Given the description of an element on the screen output the (x, y) to click on. 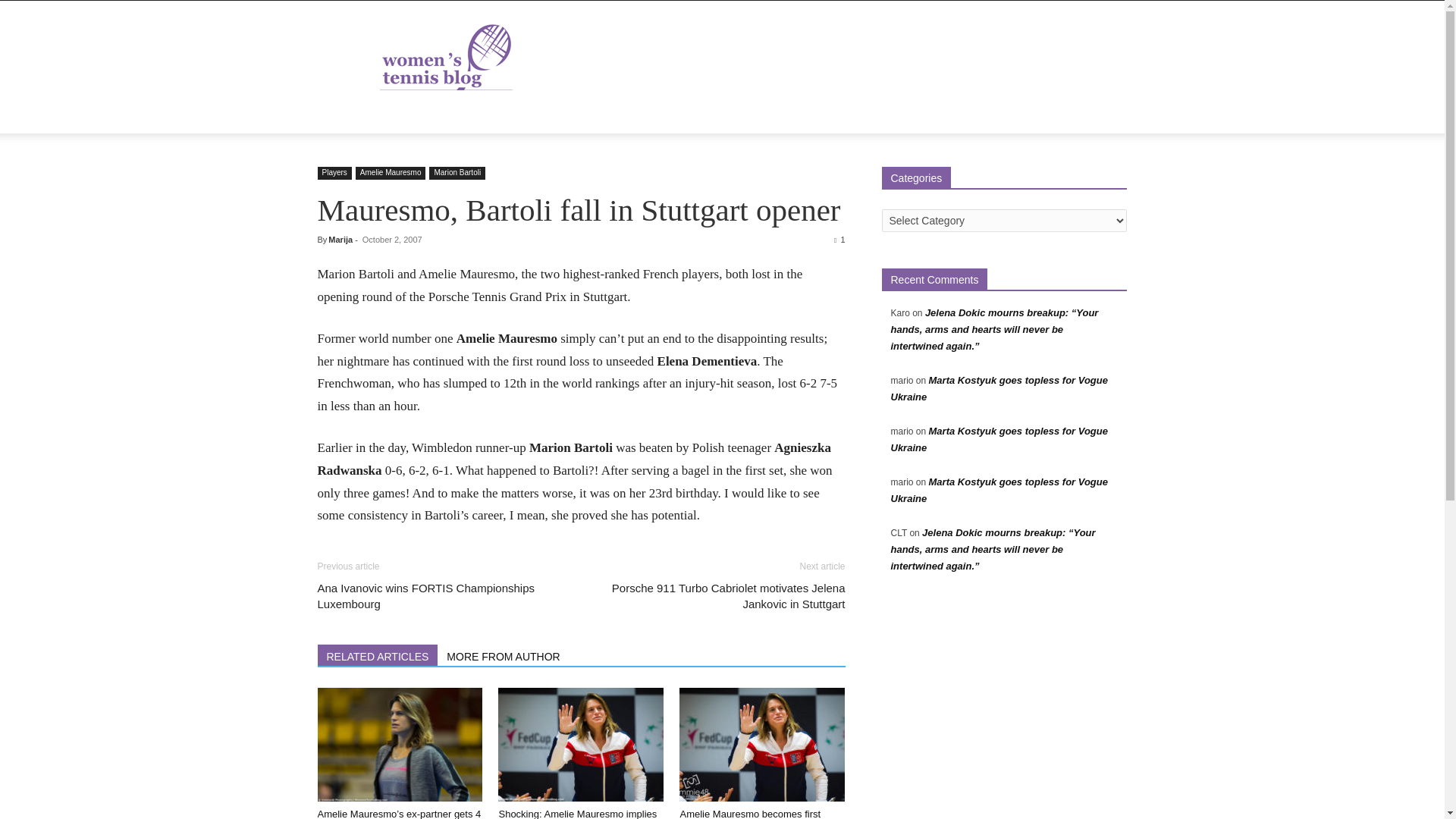
About (389, 115)
Contact Us (659, 115)
Subscribe (728, 115)
Home (341, 115)
Search (1085, 175)
Featured (445, 115)
